Given the description of an element on the screen output the (x, y) to click on. 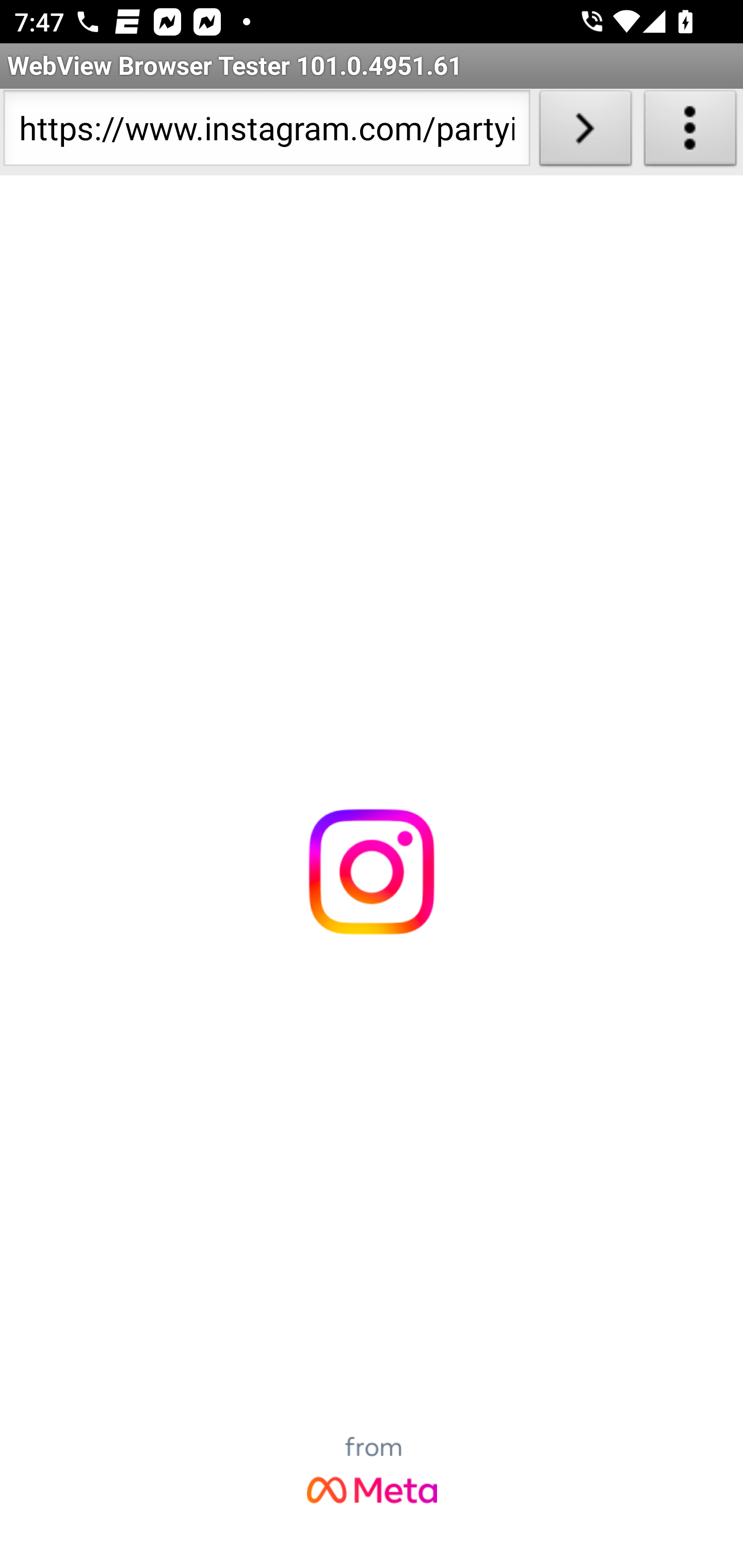
https://www.instagram.com/partyinkers/ (266, 132)
Load URL (585, 132)
About WebView (690, 132)
